Given the description of an element on the screen output the (x, y) to click on. 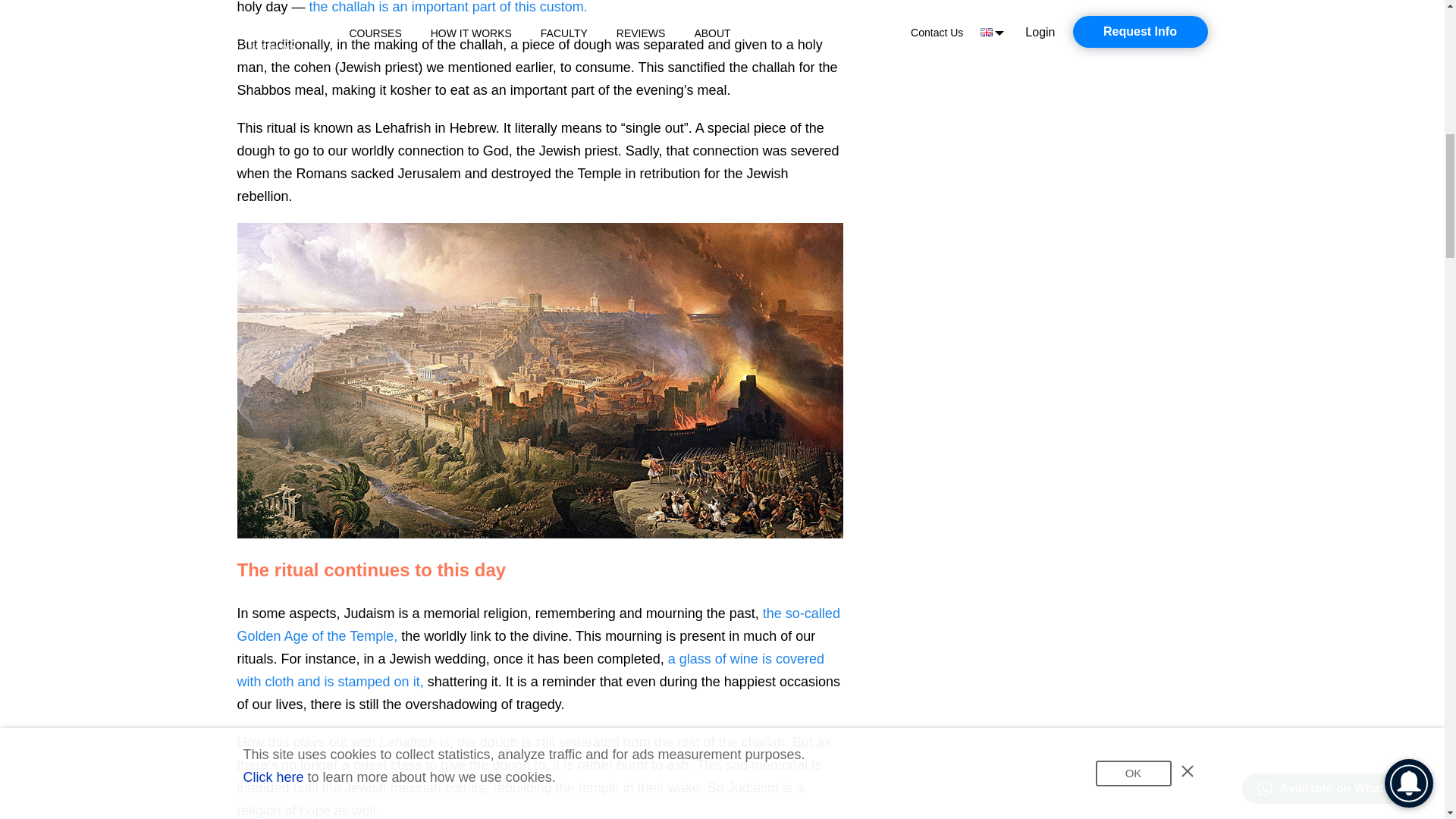
the challah is an important part of this custom. (448, 7)
